Given the description of an element on the screen output the (x, y) to click on. 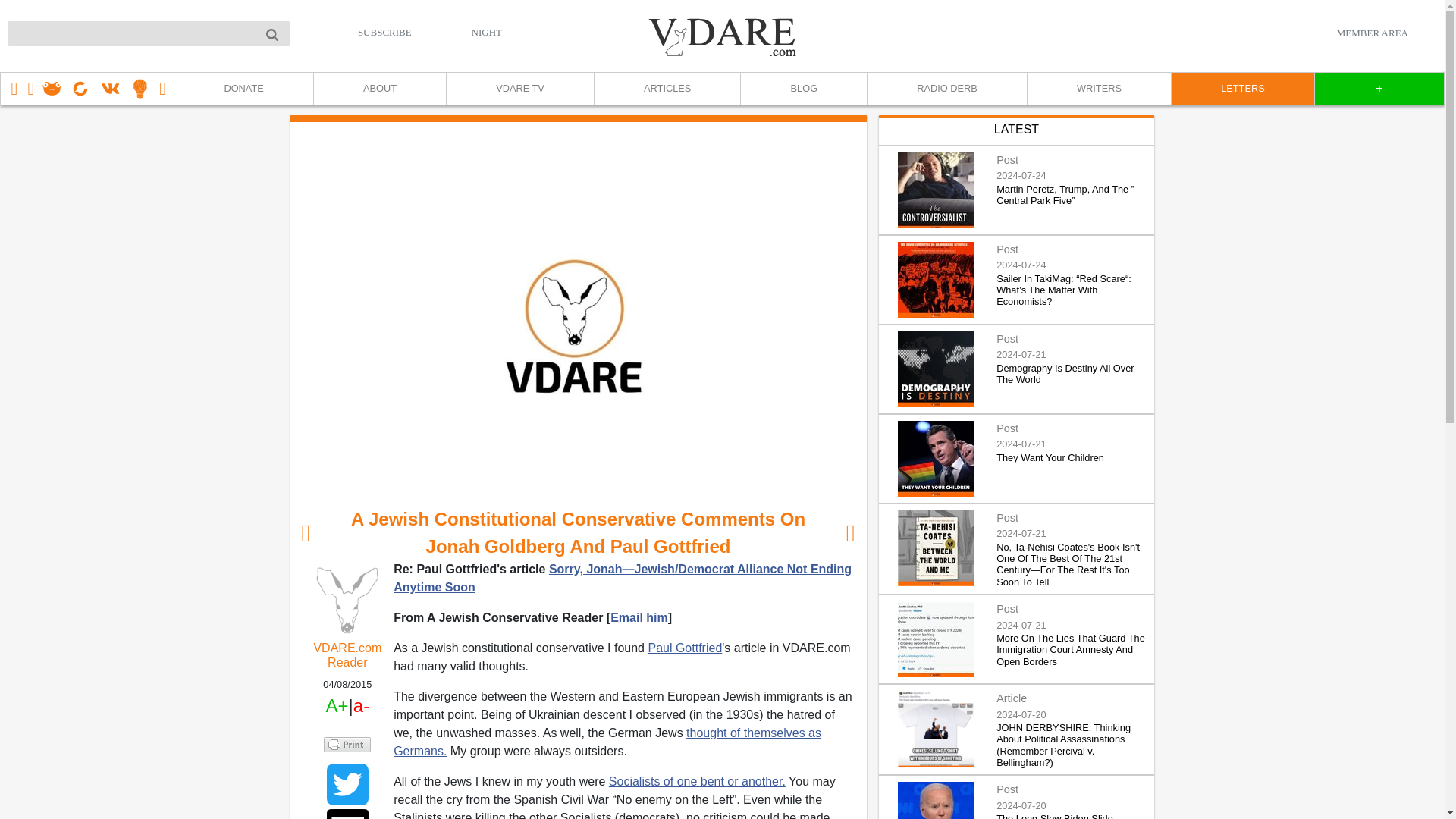
MEMBER AREA (1371, 32)
WRITERS (1098, 88)
RADIO DERB (946, 88)
BLOG (802, 88)
DONATE (243, 88)
LETTERS (1242, 88)
Share to Twitter (347, 784)
Share to Email (347, 814)
SUBSCRIBE (385, 31)
VDARE TV (519, 88)
Printer Friendly and PDF (347, 744)
ABOUT (379, 88)
ARTICLES (666, 88)
